Given the description of an element on the screen output the (x, y) to click on. 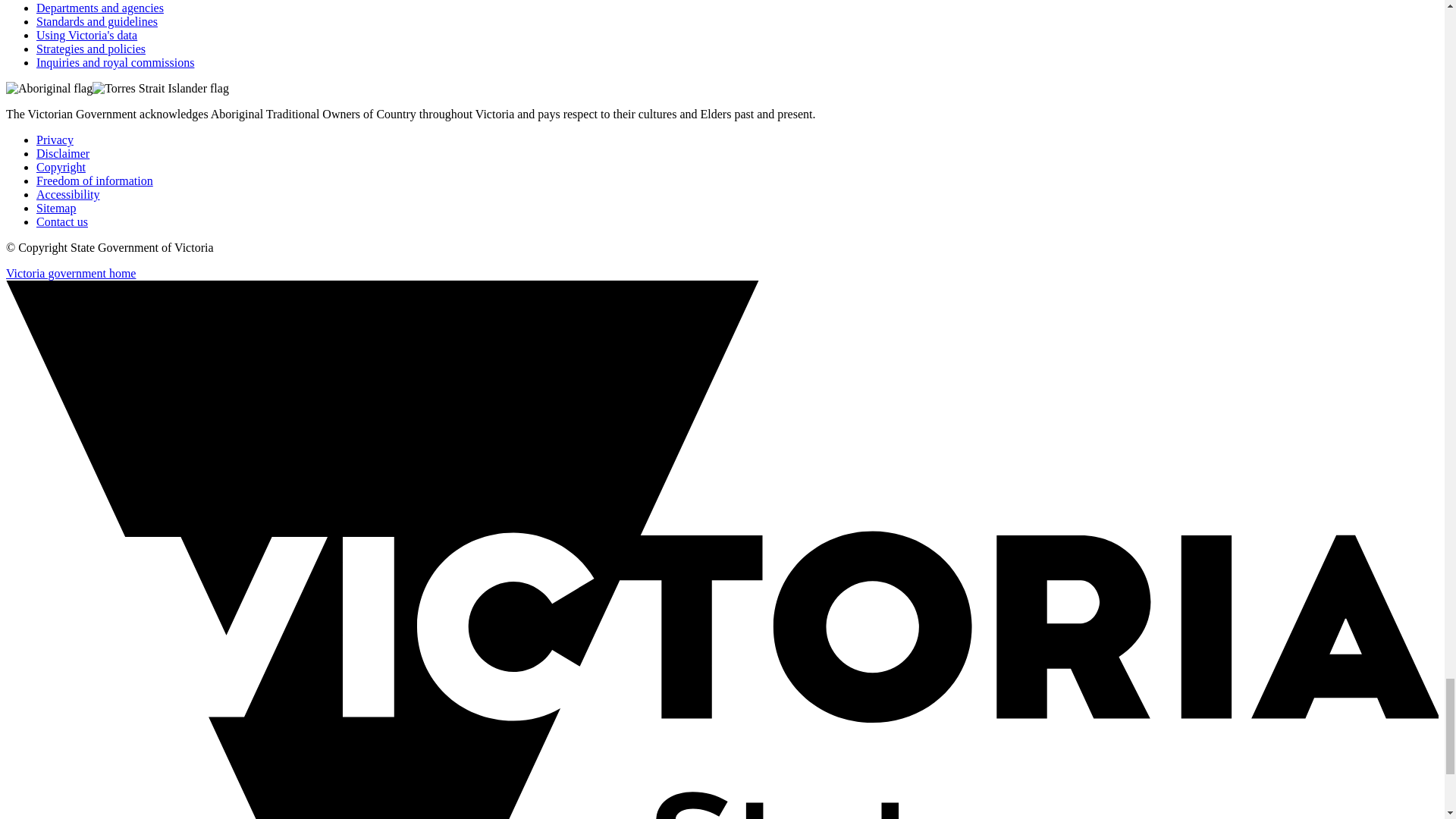
Departments and agencies (99, 7)
Standards and guidelines (96, 21)
Using Victoria's data (86, 34)
